Given the description of an element on the screen output the (x, y) to click on. 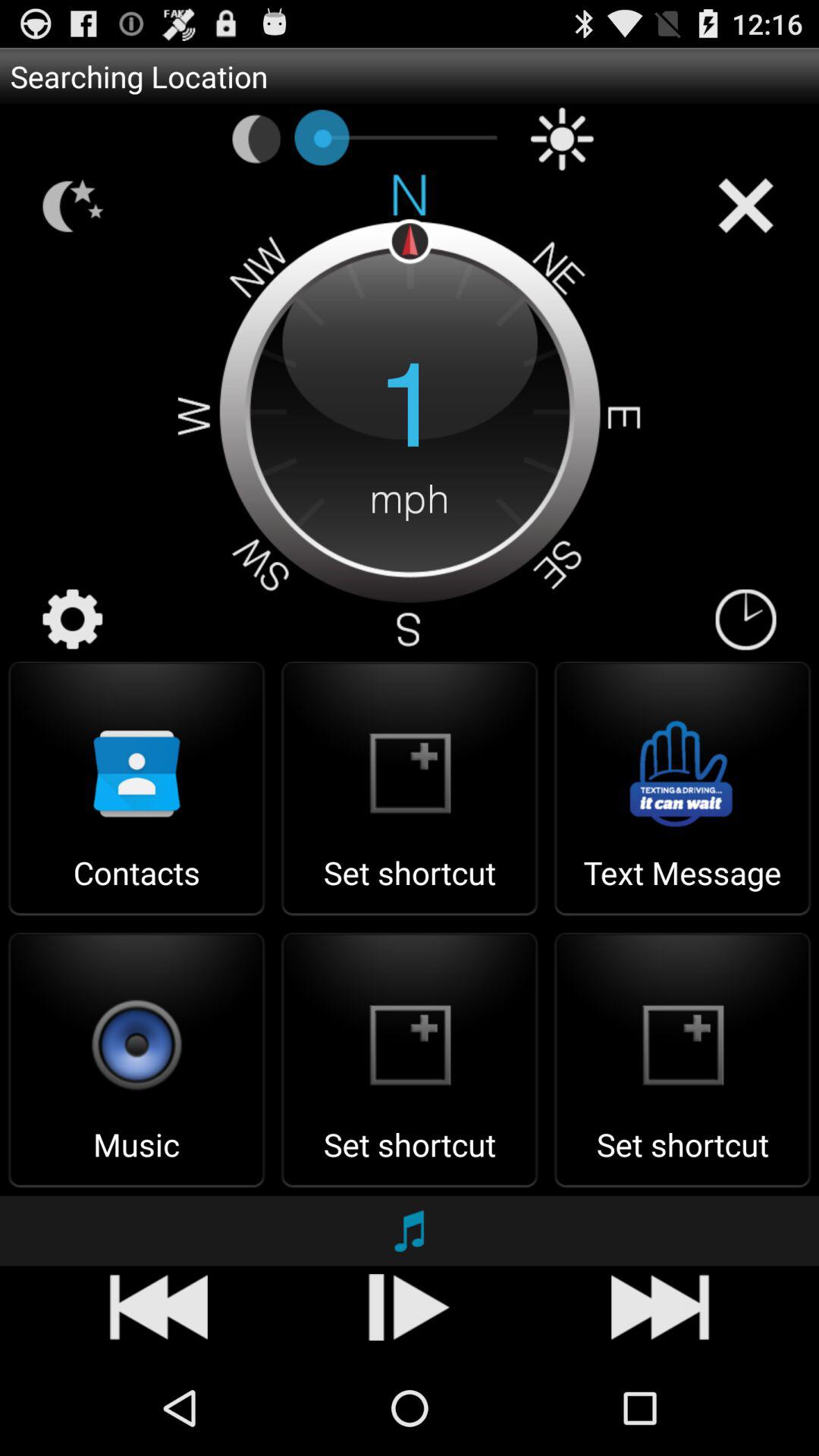
scroll until text message icon (682, 887)
